Given the description of an element on the screen output the (x, y) to click on. 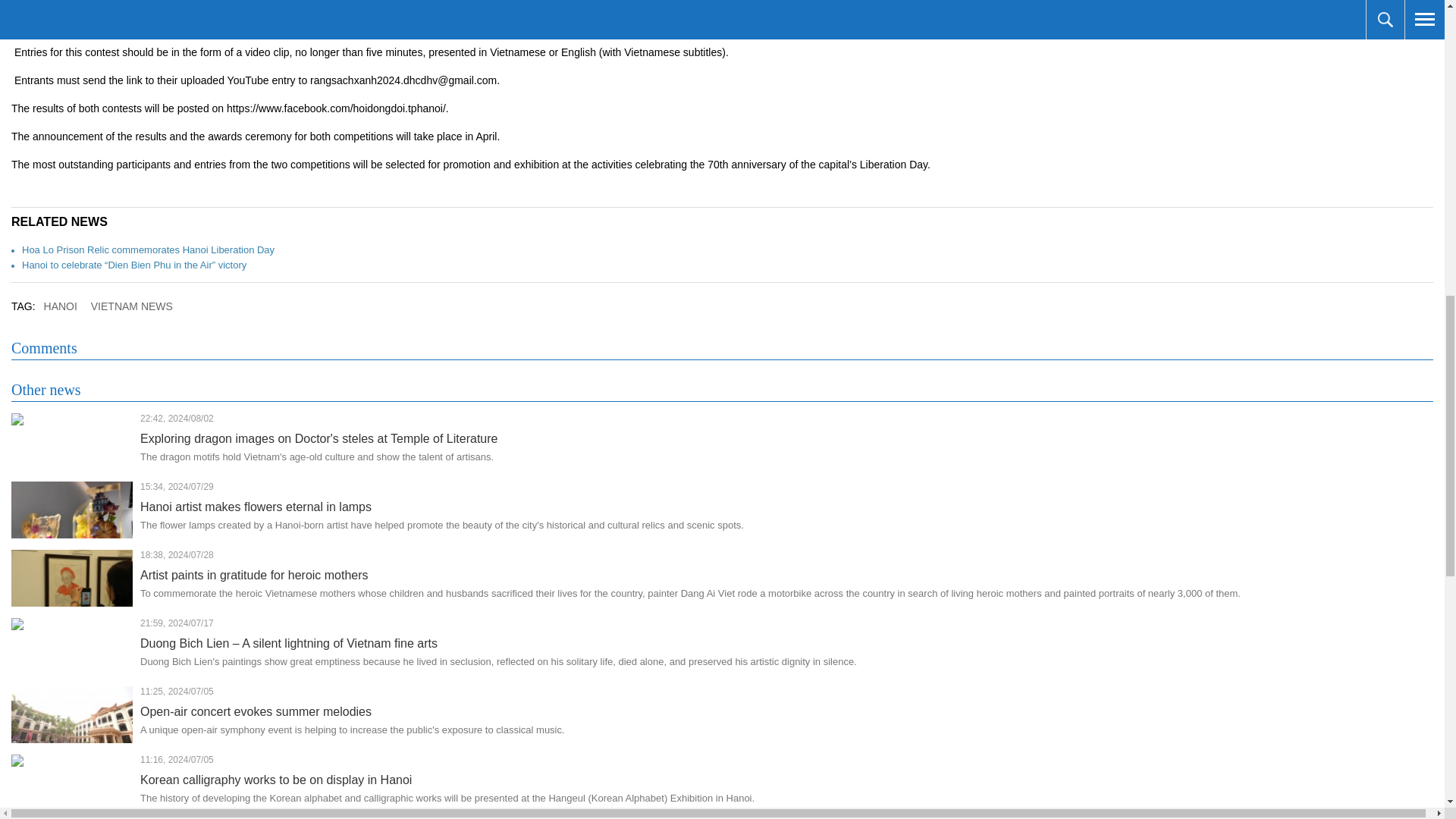
VIETNAM NEWS (131, 306)
HANOI (60, 306)
Hoa Lo Prison Relic commemorates Hanoi Liberation Day (148, 249)
Comments (44, 348)
Other news (46, 390)
